Given the description of an element on the screen output the (x, y) to click on. 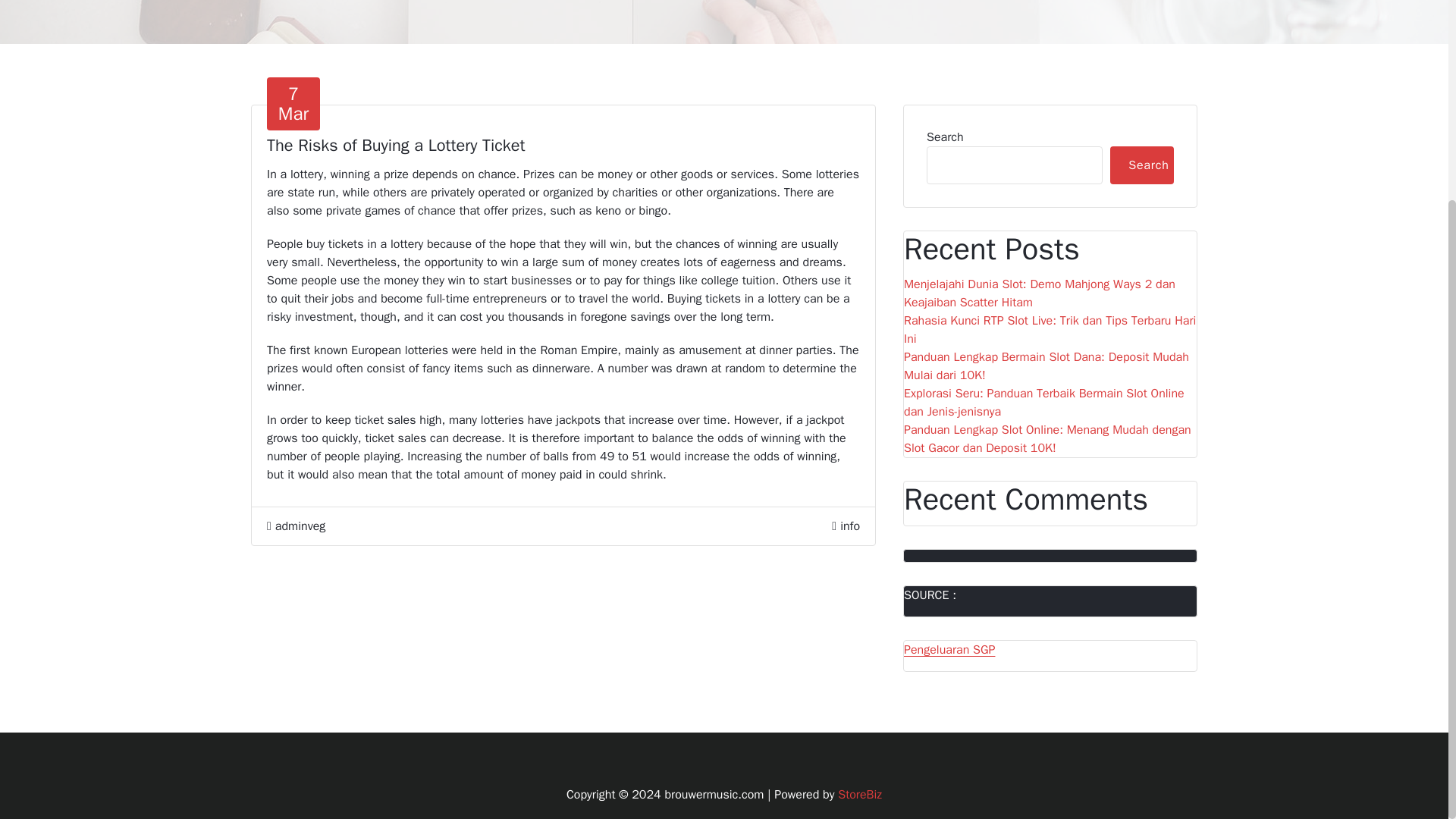
StoreBiz (860, 794)
Pengeluaran SGP (293, 103)
adminveg (949, 649)
adminveg (295, 525)
Rahasia Kunci RTP Slot Live: Trik dan Tips Terbaru Hari Ini (295, 525)
info (1050, 330)
Search (850, 525)
